Given the description of an element on the screen output the (x, y) to click on. 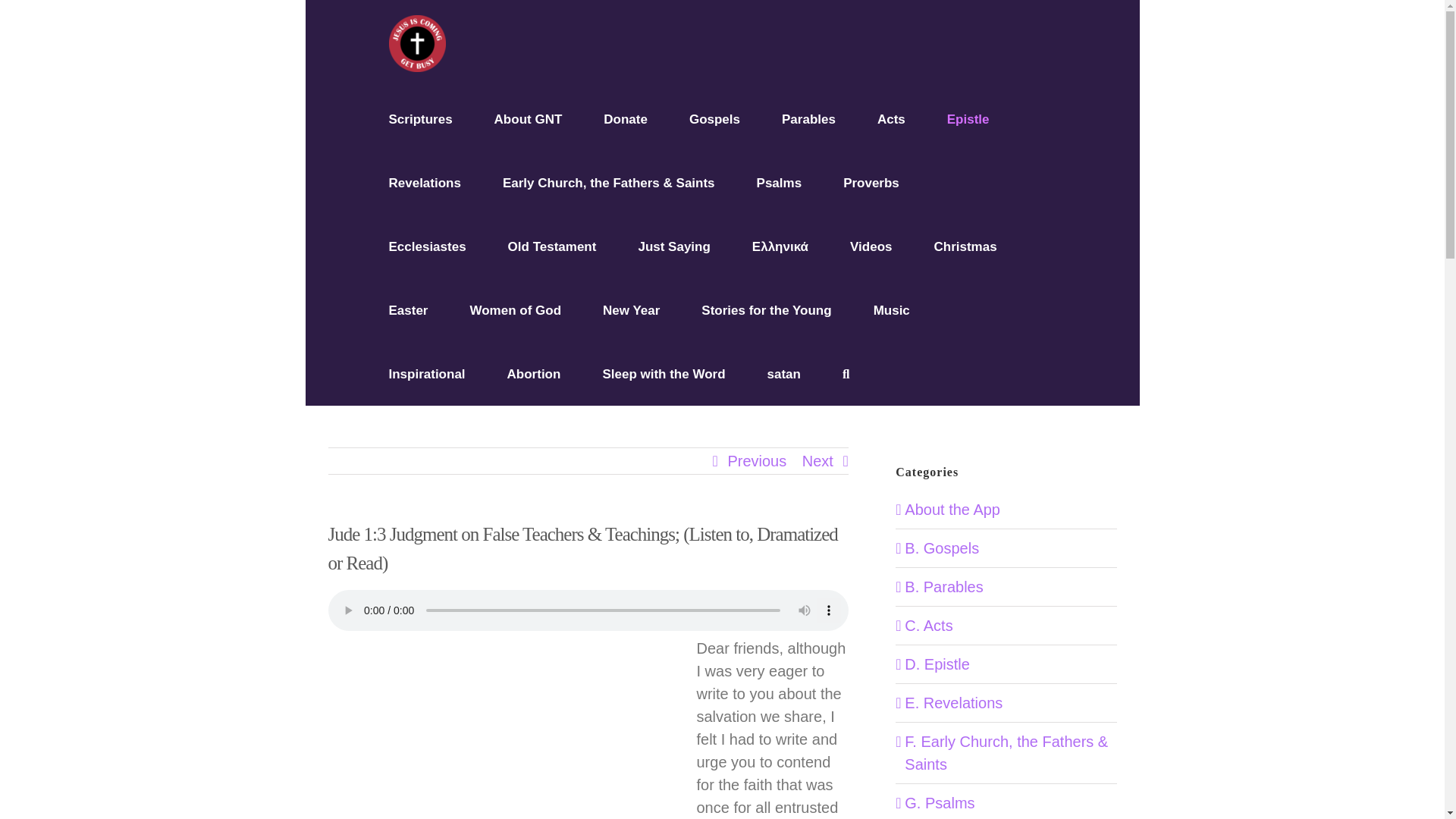
Easter (408, 310)
Be a 25er (625, 118)
Previous (756, 460)
satan (783, 373)
Women of God (514, 310)
Epistle (968, 118)
Search (845, 373)
Music (891, 310)
Psalms (779, 182)
Revelations (424, 182)
Videos (870, 246)
Gospels (713, 118)
Just Saying (673, 246)
Proverbs (871, 182)
Ecclesiastes (426, 246)
